Given the description of an element on the screen output the (x, y) to click on. 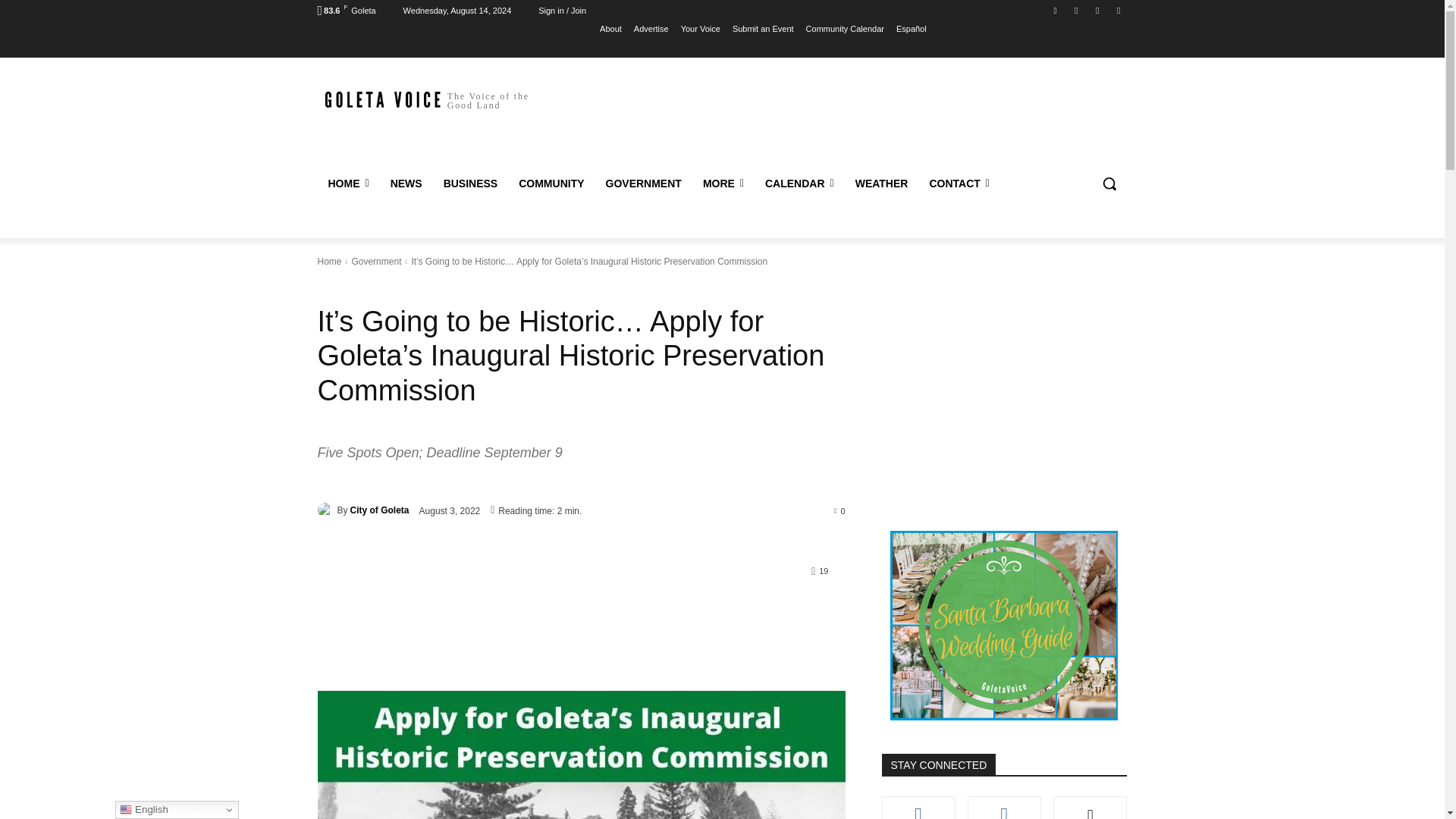
Facebook (1055, 9)
Youtube (1117, 9)
Instagram (1075, 9)
Twitter (1097, 9)
Advertisement (849, 117)
